Given the description of an element on the screen output the (x, y) to click on. 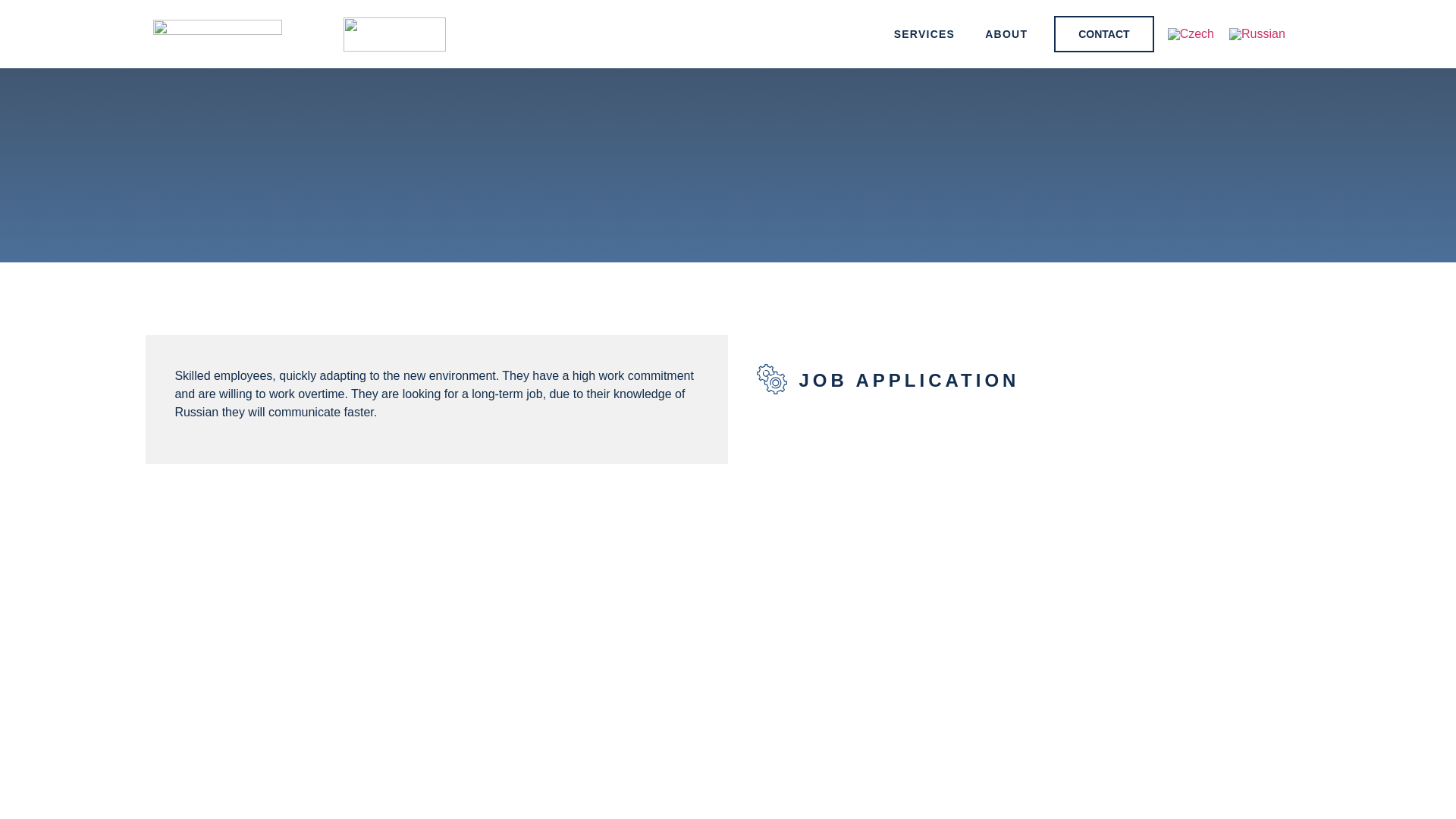
CONTACT (1103, 33)
SERVICES (925, 33)
ABOUT (1005, 33)
